Given the description of an element on the screen output the (x, y) to click on. 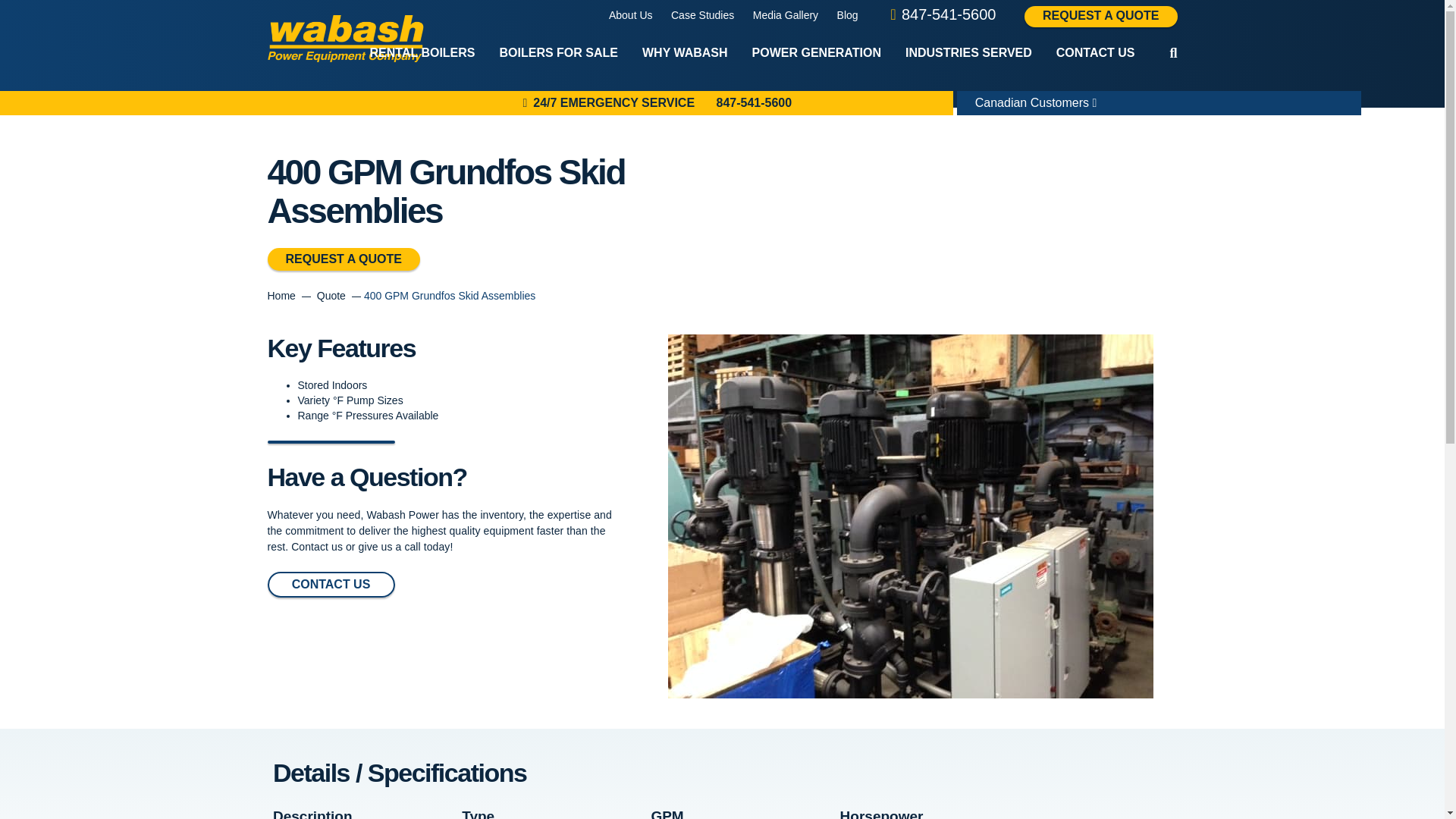
Media Gallery (785, 15)
BOILERS FOR SALE (558, 53)
About Us (630, 15)
Home - Wabash Power (344, 38)
REQUEST A QUOTE (1101, 16)
Case Studies (702, 15)
Blog (848, 15)
RENTAL BOILERS (422, 53)
POWER GENERATION (816, 53)
WHY WABASH (684, 53)
